Given the description of an element on the screen output the (x, y) to click on. 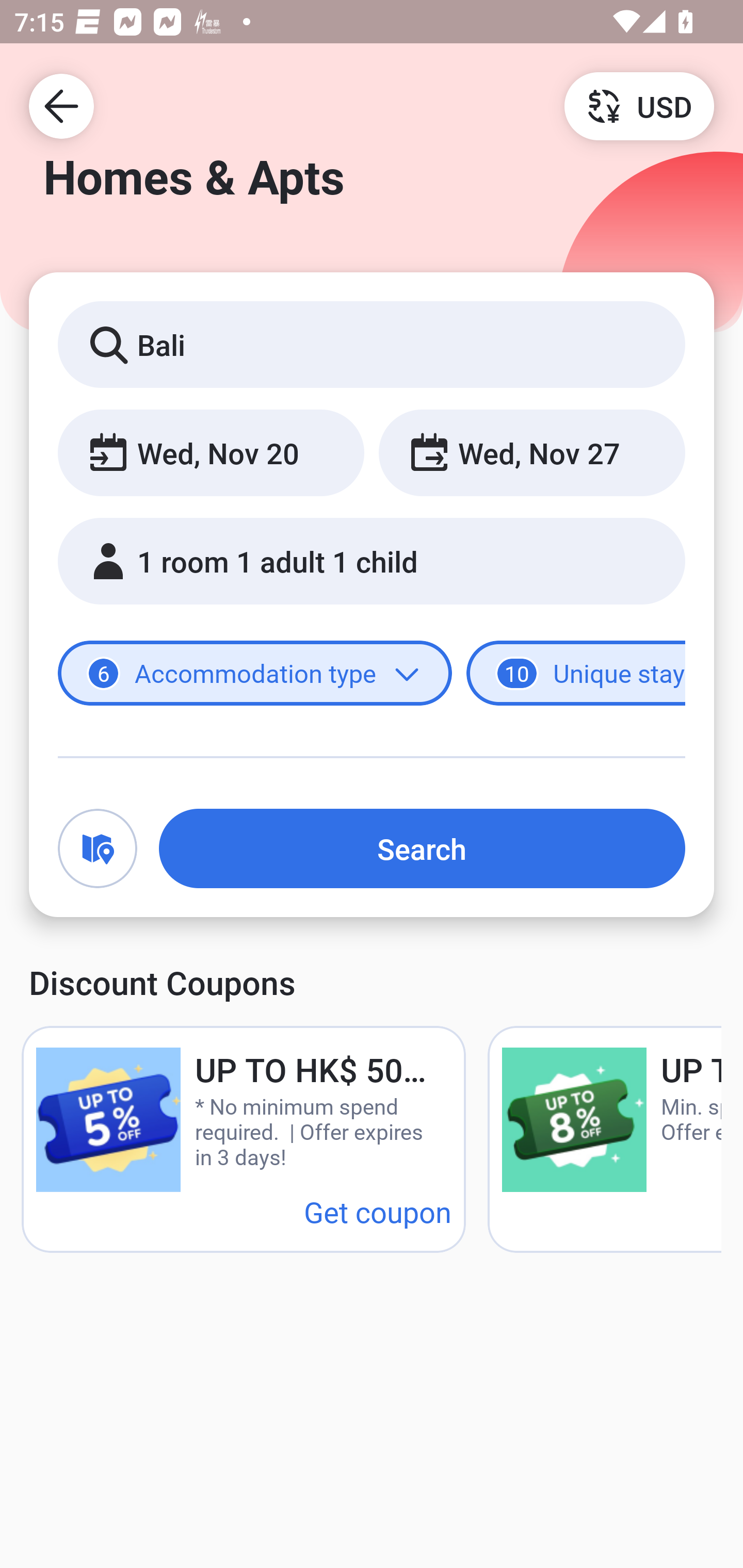
USD (639, 105)
Bali (371, 344)
Wed, Nov 20 (210, 452)
Wed, Nov 27 (531, 452)
1 room 1 adult 1 child (371, 561)
6 Accommodation type (254, 673)
10 Unique stays (575, 673)
Search (422, 848)
Get coupon (377, 1211)
